Given the description of an element on the screen output the (x, y) to click on. 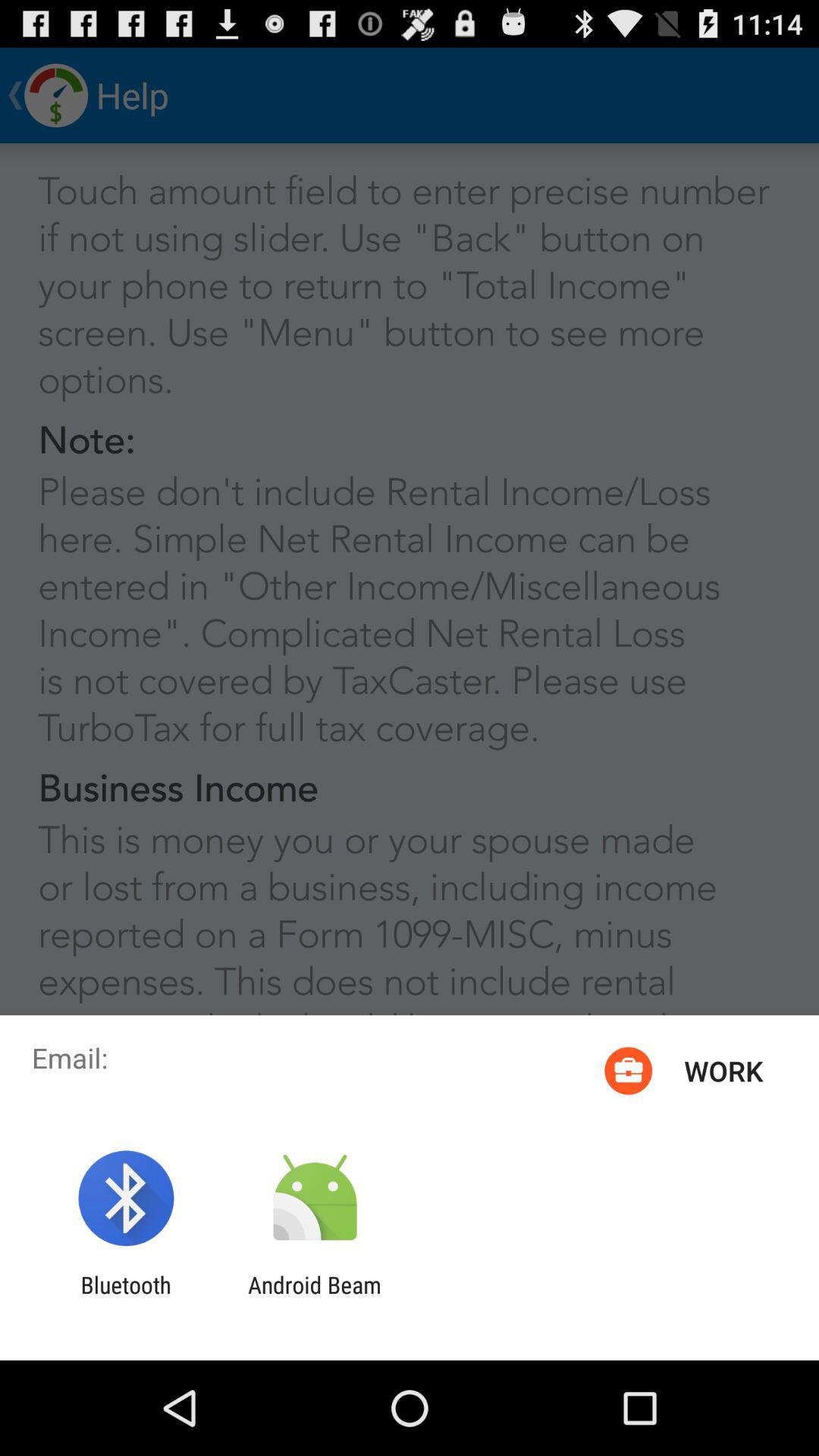
swipe until the bluetooth icon (125, 1298)
